Given the description of an element on the screen output the (x, y) to click on. 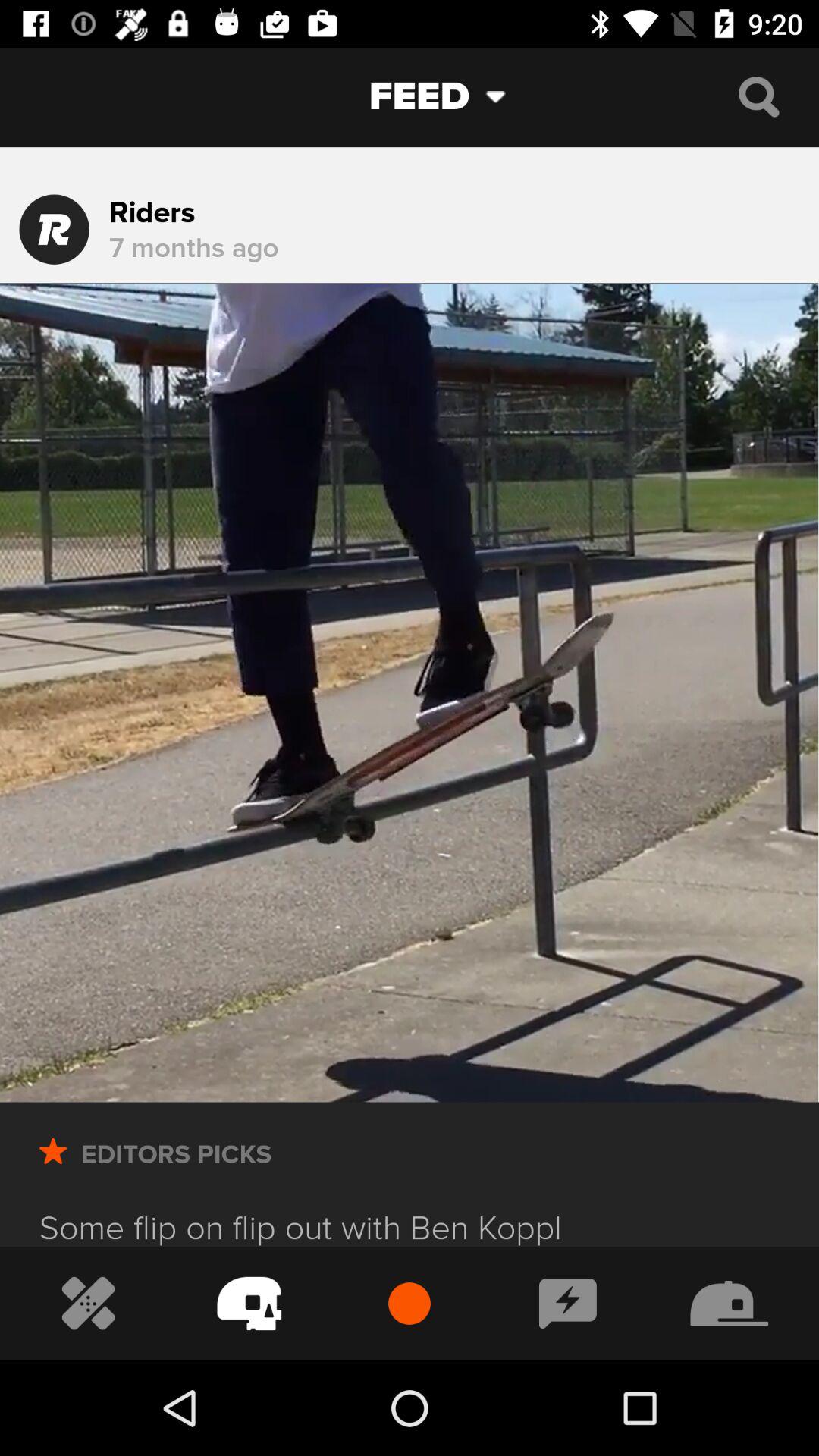
select the searching button (758, 96)
